Given the description of an element on the screen output the (x, y) to click on. 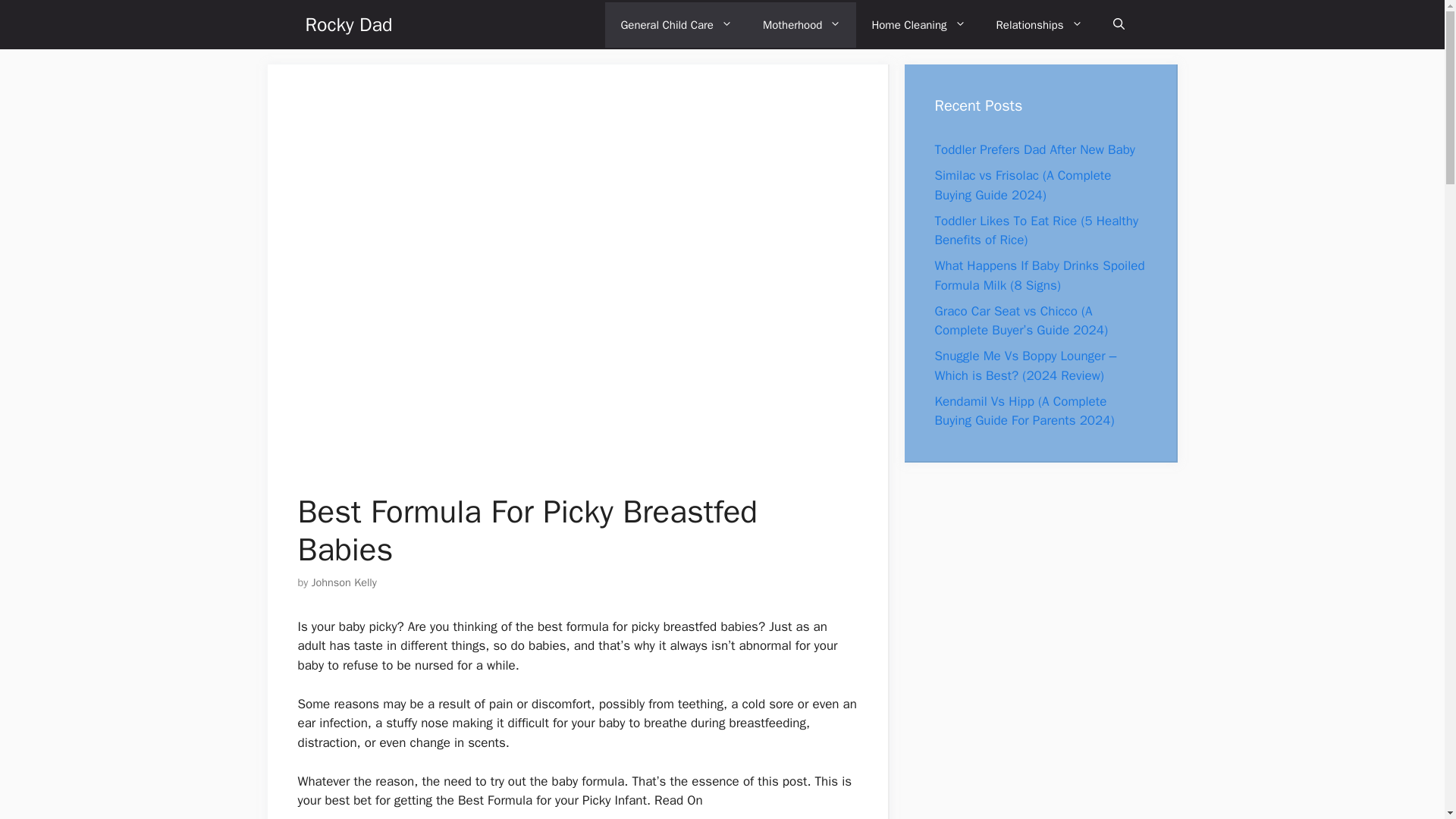
Relationships (1039, 23)
Motherhood (802, 23)
Home Cleaning (917, 23)
View all posts by Johnson Kelly (344, 581)
General Child Care (676, 23)
Johnson Kelly (344, 581)
Rocky Dad (347, 24)
